Given the description of an element on the screen output the (x, y) to click on. 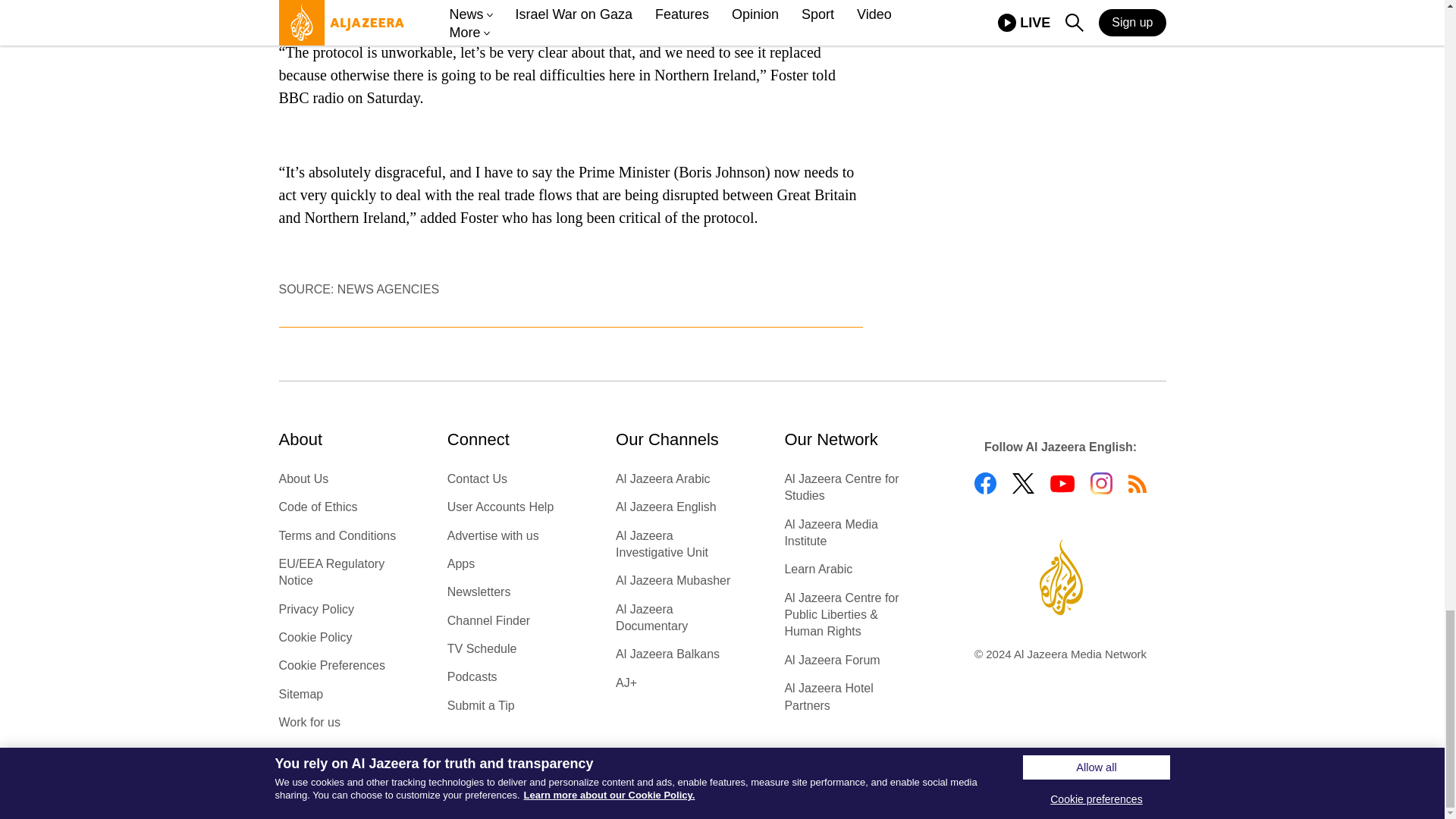
facebook (984, 483)
youtube (1061, 483)
instagram-colored-outline (1101, 483)
twitter (1022, 483)
rss (1137, 484)
